Given the description of an element on the screen output the (x, y) to click on. 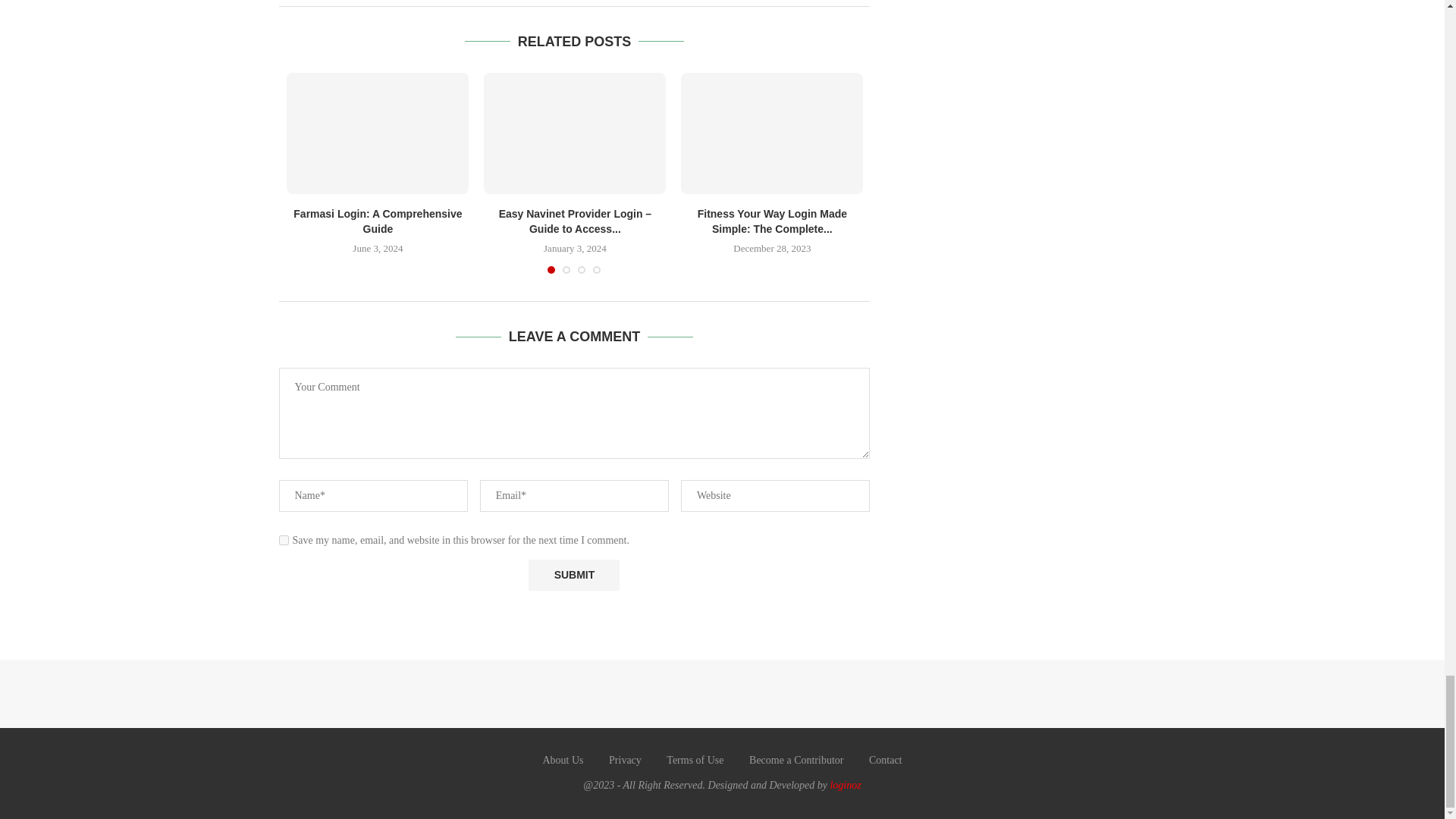
yes (283, 540)
Submit (574, 574)
